Given the description of an element on the screen output the (x, y) to click on. 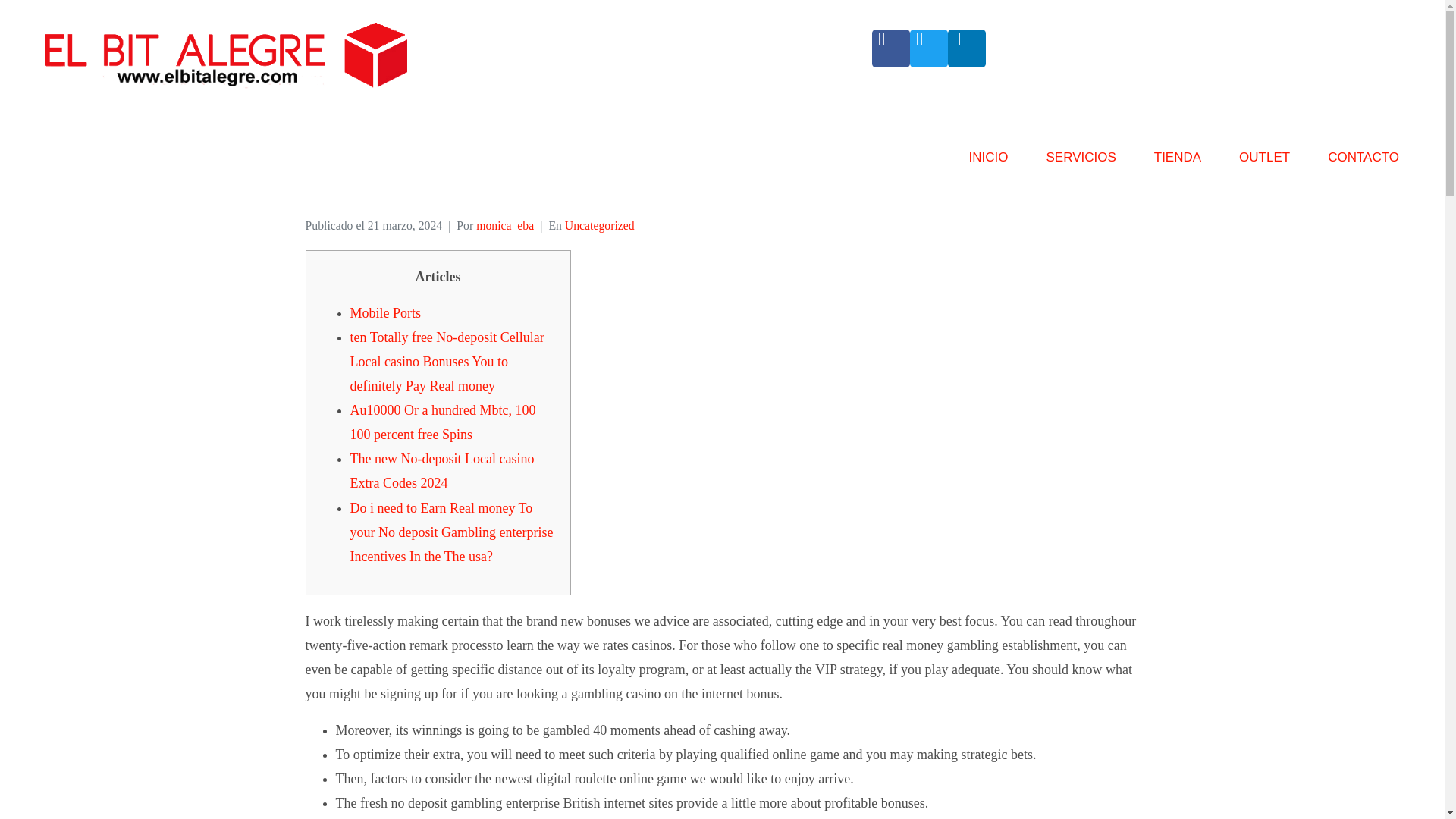
Mobile Ports (386, 313)
The new No-deposit Local casino Extra Codes 2024 (442, 470)
INICIO (989, 163)
Uncategorized (599, 225)
TIENDA (1177, 163)
CONTACTO (1363, 163)
OUTLET (1264, 163)
Au10000 Or a hundred Mbtc, 100 100 percent free Spins (442, 422)
SERVICIOS (1080, 163)
